Given the description of an element on the screen output the (x, y) to click on. 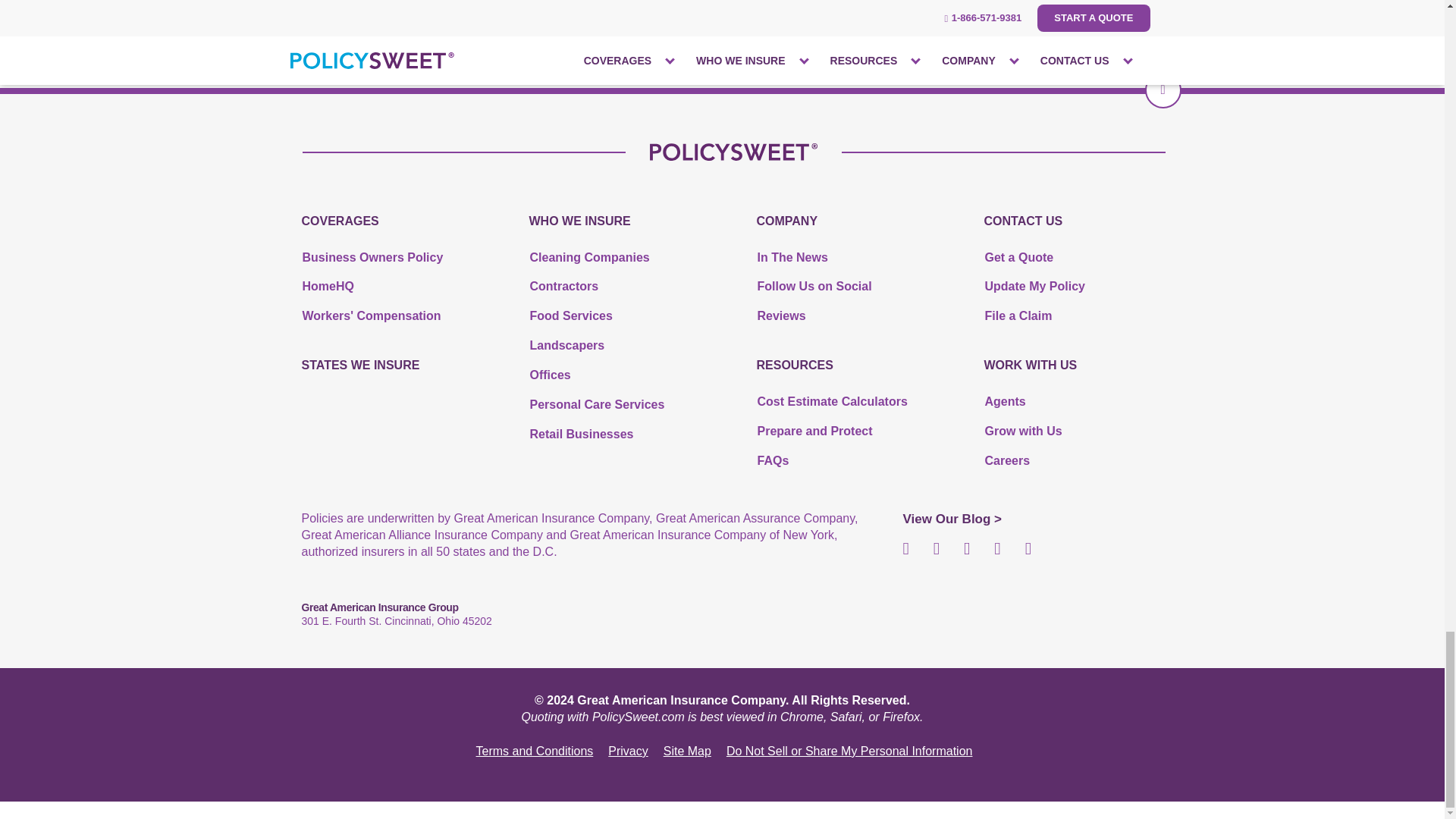
Scroll To Top (1162, 90)
